Given the description of an element on the screen output the (x, y) to click on. 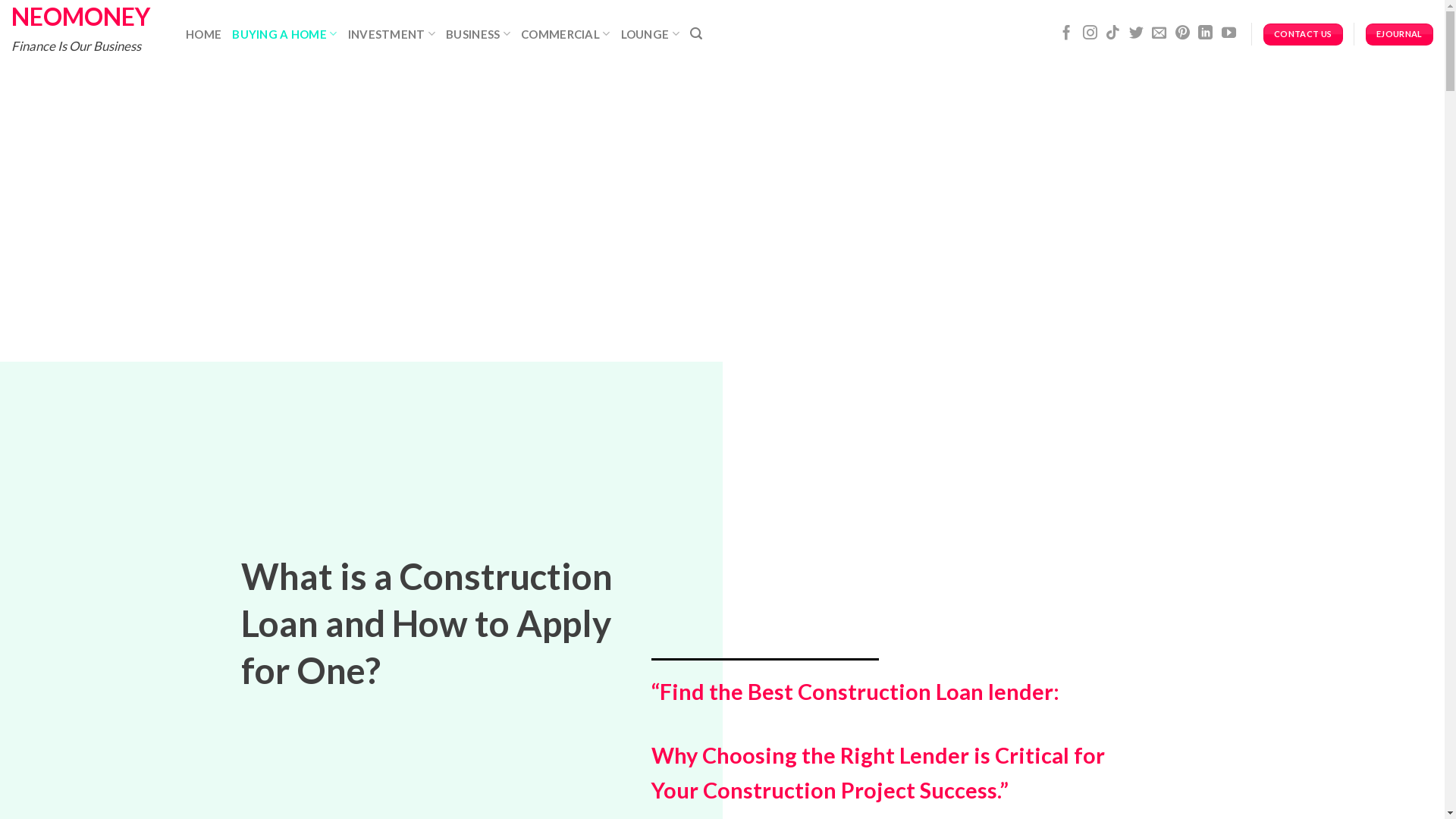
HOME Element type: text (203, 33)
CONTACT US Element type: text (1303, 34)
Follow on Twitter Element type: hover (1136, 33)
BUYING A HOME Element type: text (284, 33)
Follow on TikTok Element type: hover (1112, 33)
Follow on Facebook Element type: hover (1066, 33)
BUSINESS Element type: text (477, 33)
NEOMONEY Element type: text (87, 16)
COMMERCIAL Element type: text (565, 33)
Follow on Instagram Element type: hover (1089, 33)
INVESTMENT Element type: text (392, 33)
Follow on YouTube Element type: hover (1228, 33)
Follow on LinkedIn Element type: hover (1205, 33)
EJOURNAL Element type: text (1399, 34)
LOUNGE Element type: text (650, 33)
Send us an email Element type: hover (1158, 33)
Follow on Pinterest Element type: hover (1182, 33)
